Given the description of an element on the screen output the (x, y) to click on. 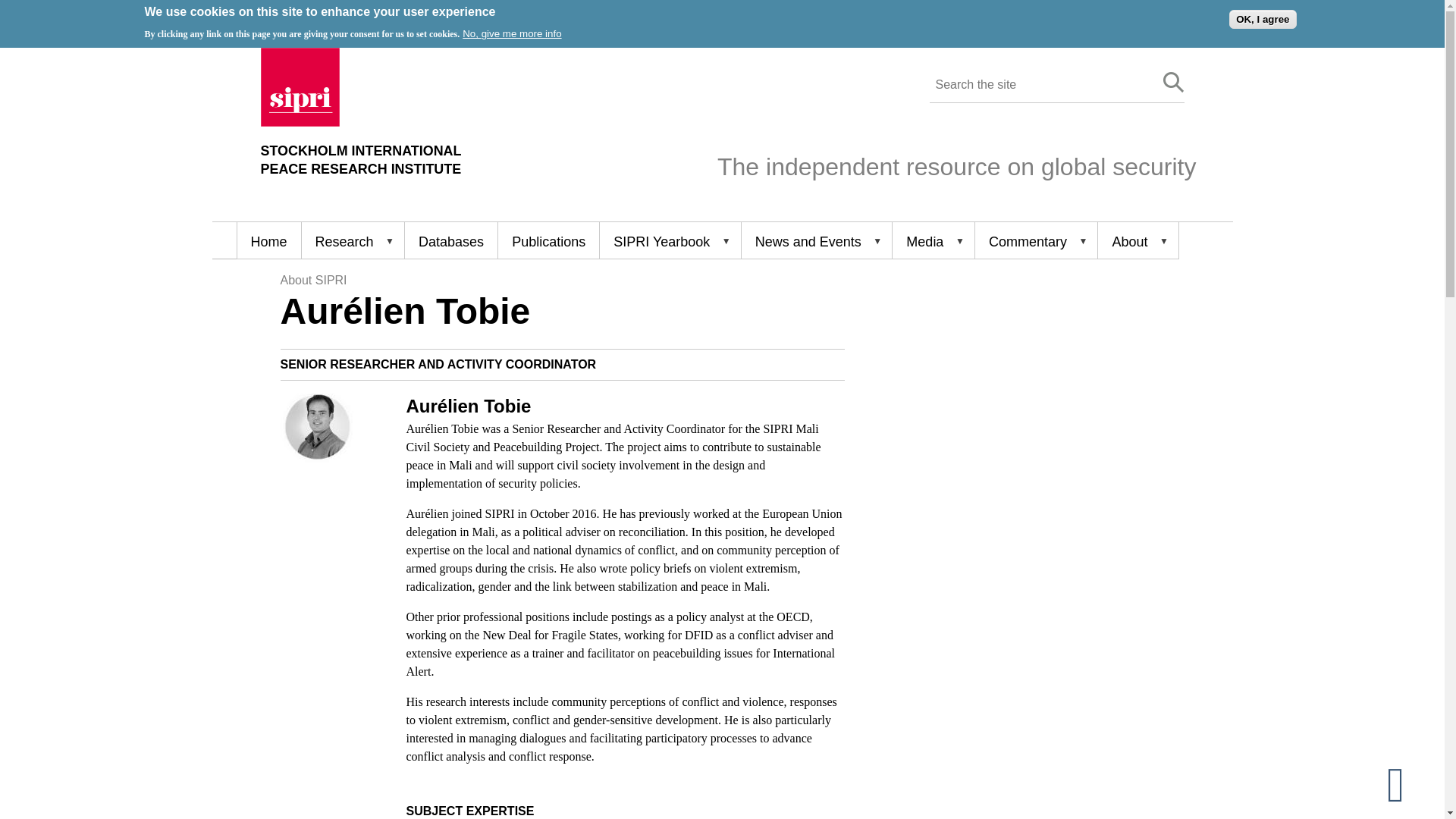
Click to return to the top of the page (1408, 782)
Home (360, 159)
Enter the terms you wish to search for. (1039, 84)
SIPRI's research (352, 240)
Search (1174, 82)
OK, I agree (1261, 18)
Home (267, 240)
No, give me more info (511, 33)
Home (299, 122)
Publications (547, 240)
SIPRI's databases (450, 240)
Recent and upcoming news and events (360, 159)
Search (816, 240)
